Given the description of an element on the screen output the (x, y) to click on. 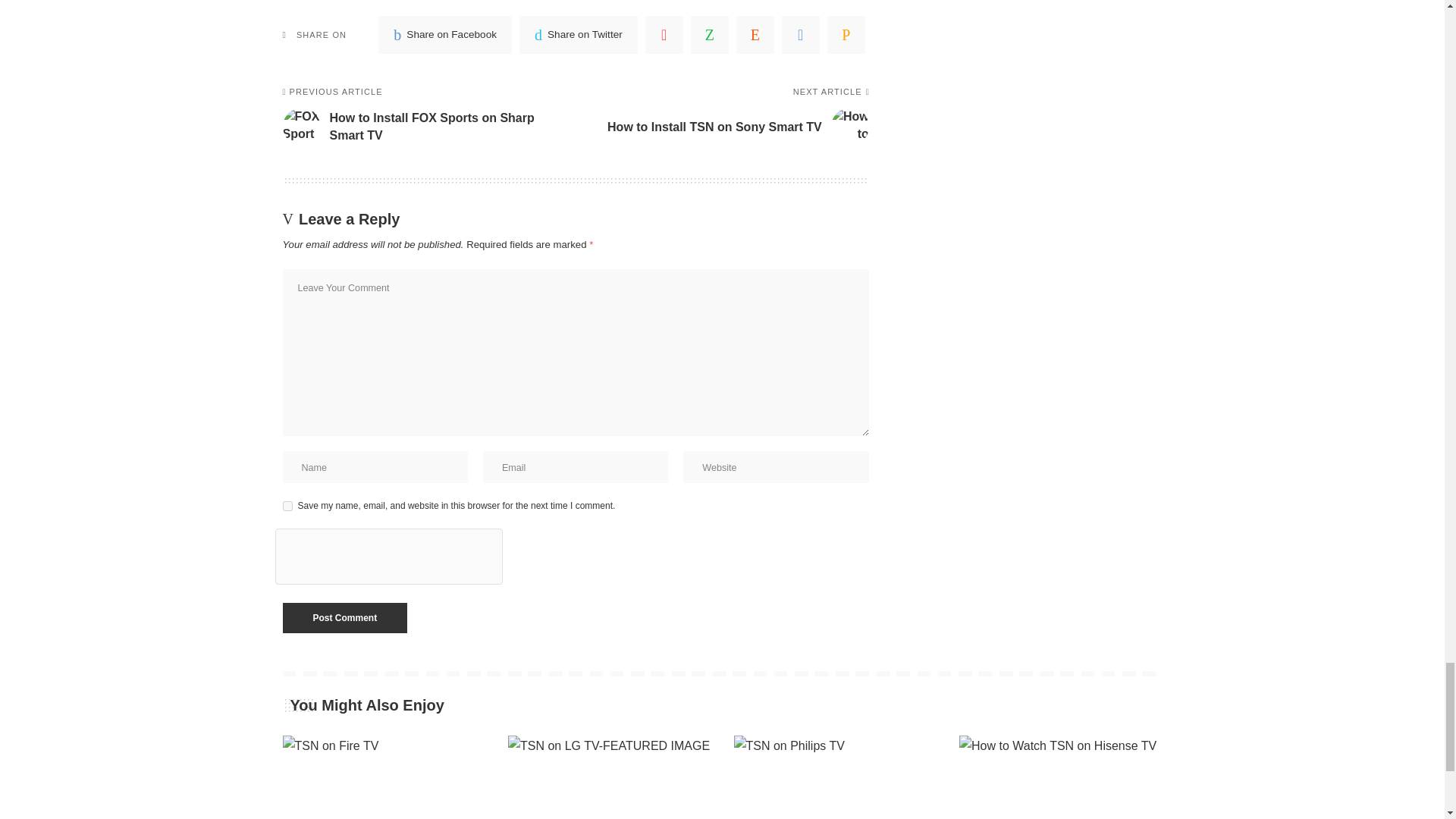
yes (287, 506)
Post Comment (344, 617)
